Given the description of an element on the screen output the (x, y) to click on. 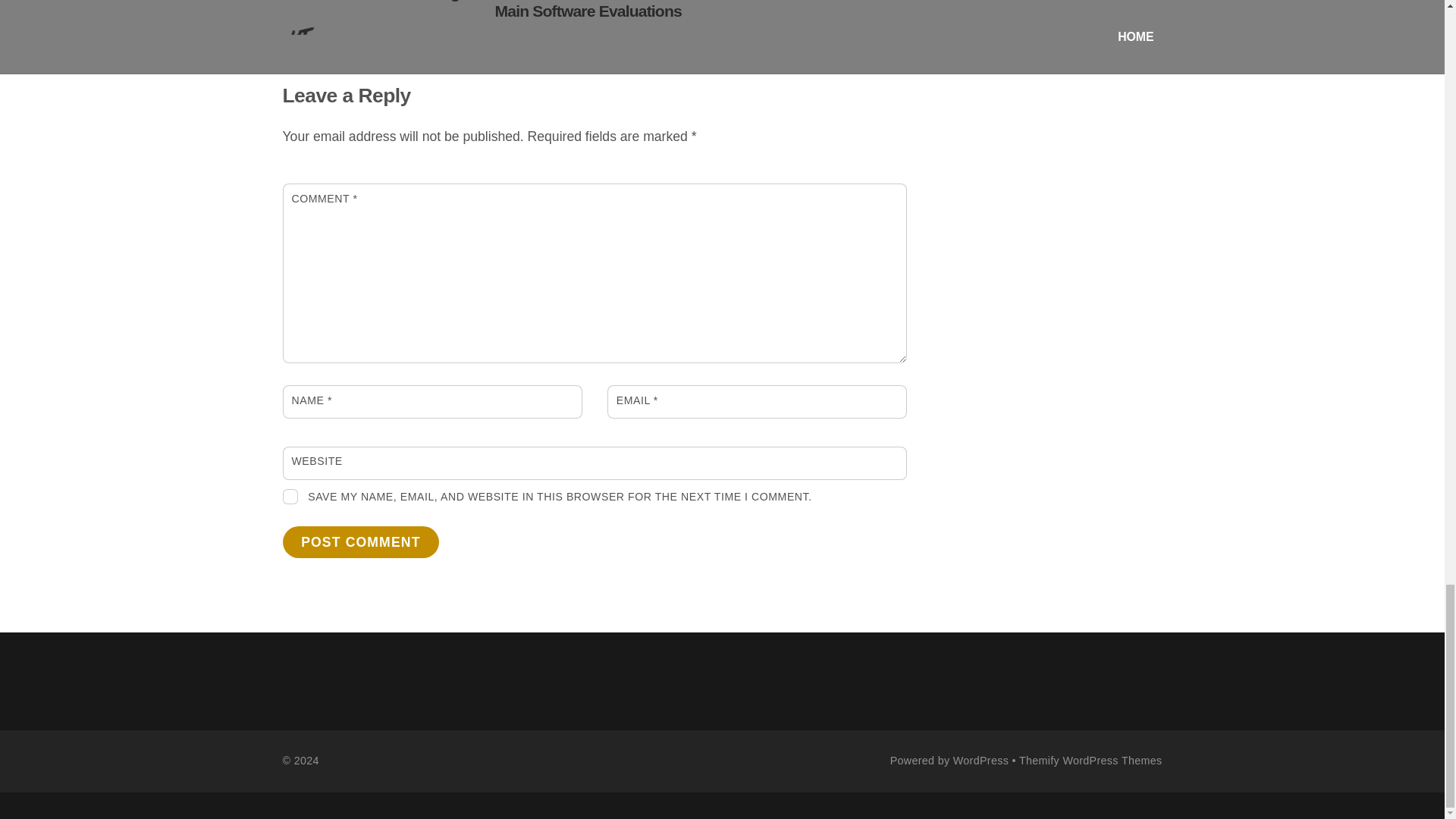
WordPress (981, 760)
Post Comment (360, 541)
Themify WordPress Themes (1090, 760)
yes (289, 496)
Post Comment (360, 541)
Trust Crot (742, 0)
